Given the description of an element on the screen output the (x, y) to click on. 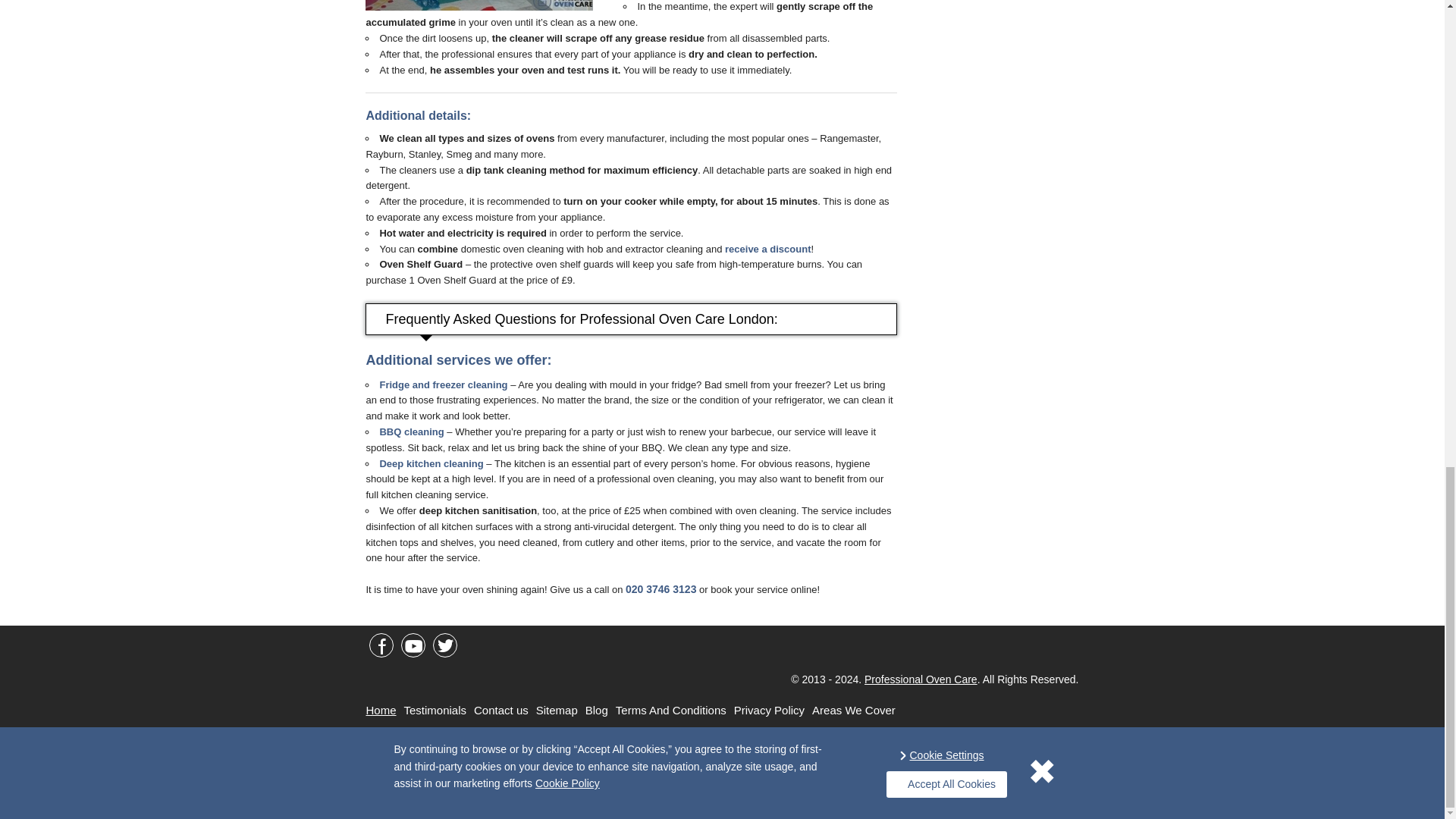
Professional Oven Care (920, 679)
Fridge and freezer cleaning (442, 384)
Deep kitchen cleaning (430, 463)
receive a discount (767, 248)
BBQ cleaning (411, 431)
